Given the description of an element on the screen output the (x, y) to click on. 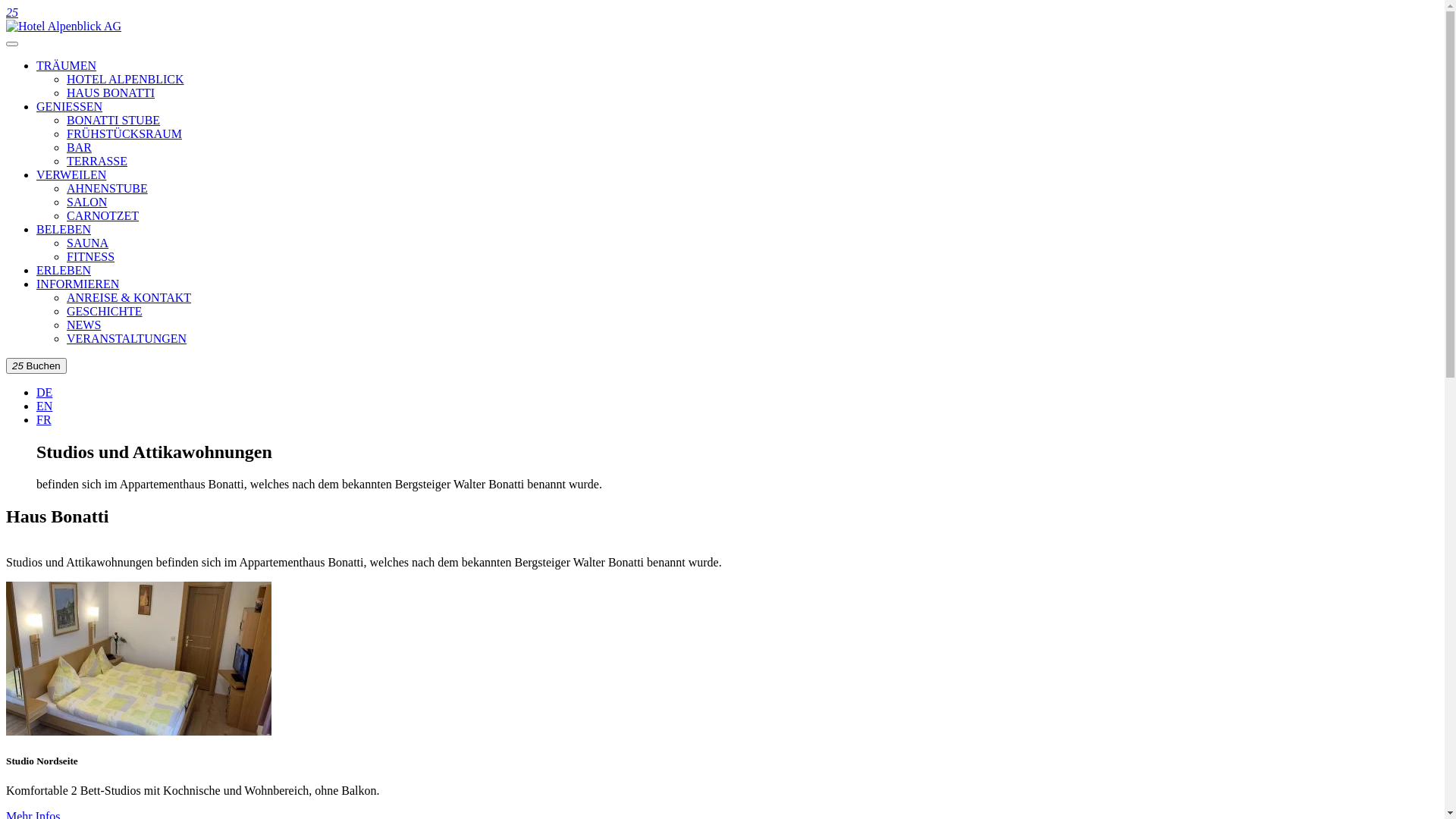
BONATTI STUBE Element type: text (113, 119)
FITNESS Element type: text (90, 256)
SAUNA Element type: text (87, 242)
HOTEL ALPENBLICK Element type: text (125, 78)
TERRASSE Element type: text (96, 160)
ANREISE & KONTAKT Element type: text (128, 297)
Studio Nord Schlafbereich Element type: hover (138, 658)
CARNOTZET Element type: text (102, 215)
25 Buchen Element type: text (36, 365)
AHNENSTUBE Element type: text (106, 188)
SALON Element type: text (86, 201)
BELEBEN Element type: text (63, 228)
HAUS BONATTI Element type: text (110, 92)
VERWEILEN Element type: text (71, 174)
FR Element type: text (43, 419)
EN Element type: text (44, 405)
BAR Element type: text (78, 147)
INFORMIEREN Element type: text (77, 283)
GENIESSEN Element type: text (69, 106)
NEWS Element type: text (83, 324)
ERLEBEN Element type: text (63, 269)
25 Element type: text (12, 12)
GESCHICHTE Element type: text (104, 310)
VERANSTALTUNGEN Element type: text (126, 338)
DE Element type: text (44, 391)
